Given the description of an element on the screen output the (x, y) to click on. 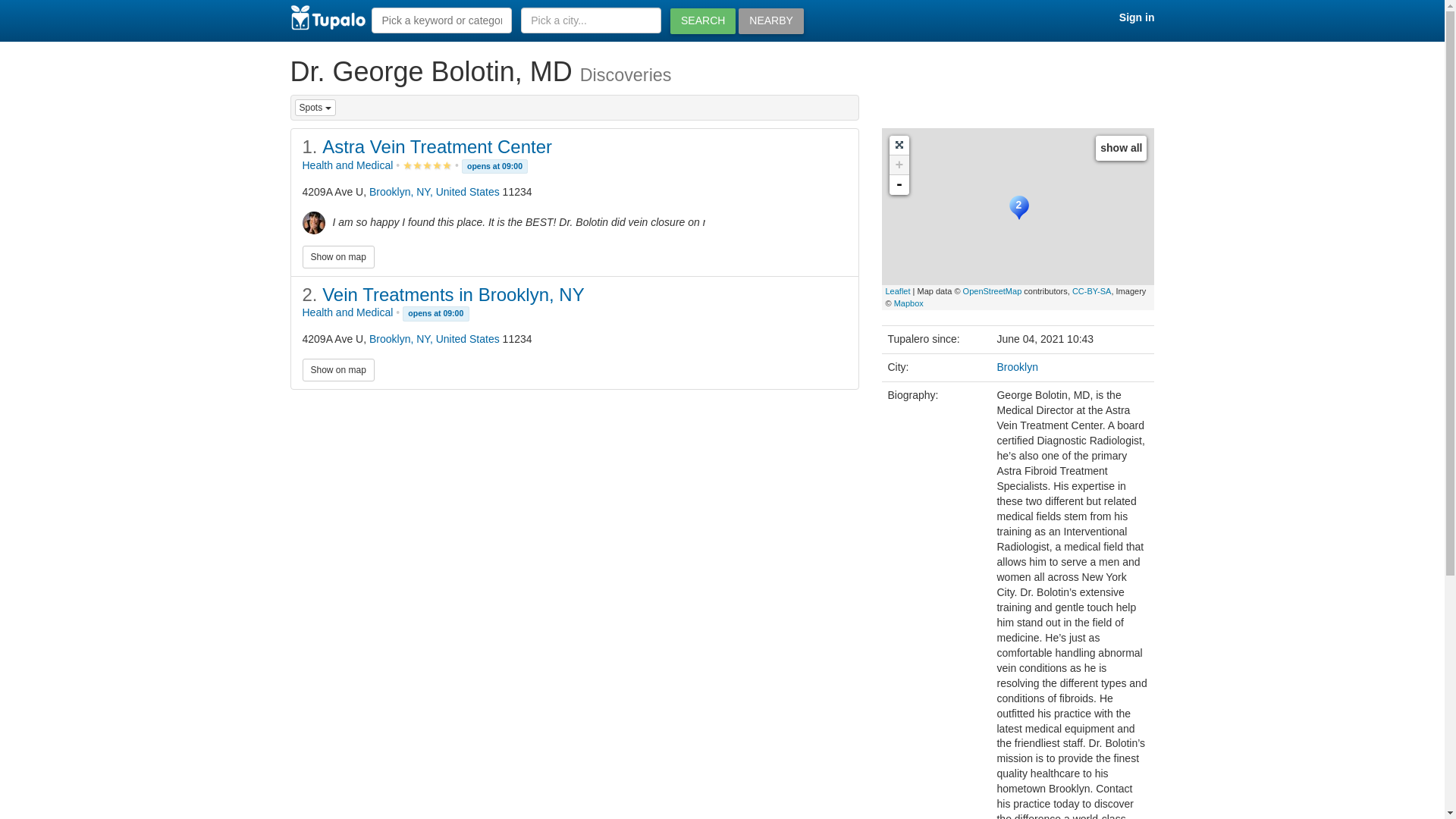
Full Screen (898, 145)
Brooklyn (1015, 367)
Show on map (337, 369)
- (898, 184)
CC-BY-SA (1091, 290)
Vein Treatments in Brooklyn, NY (453, 294)
NEARBY (770, 21)
Show on map (337, 256)
A JS library for interactive maps (898, 290)
Spots (314, 107)
